Given the description of an element on the screen output the (x, y) to click on. 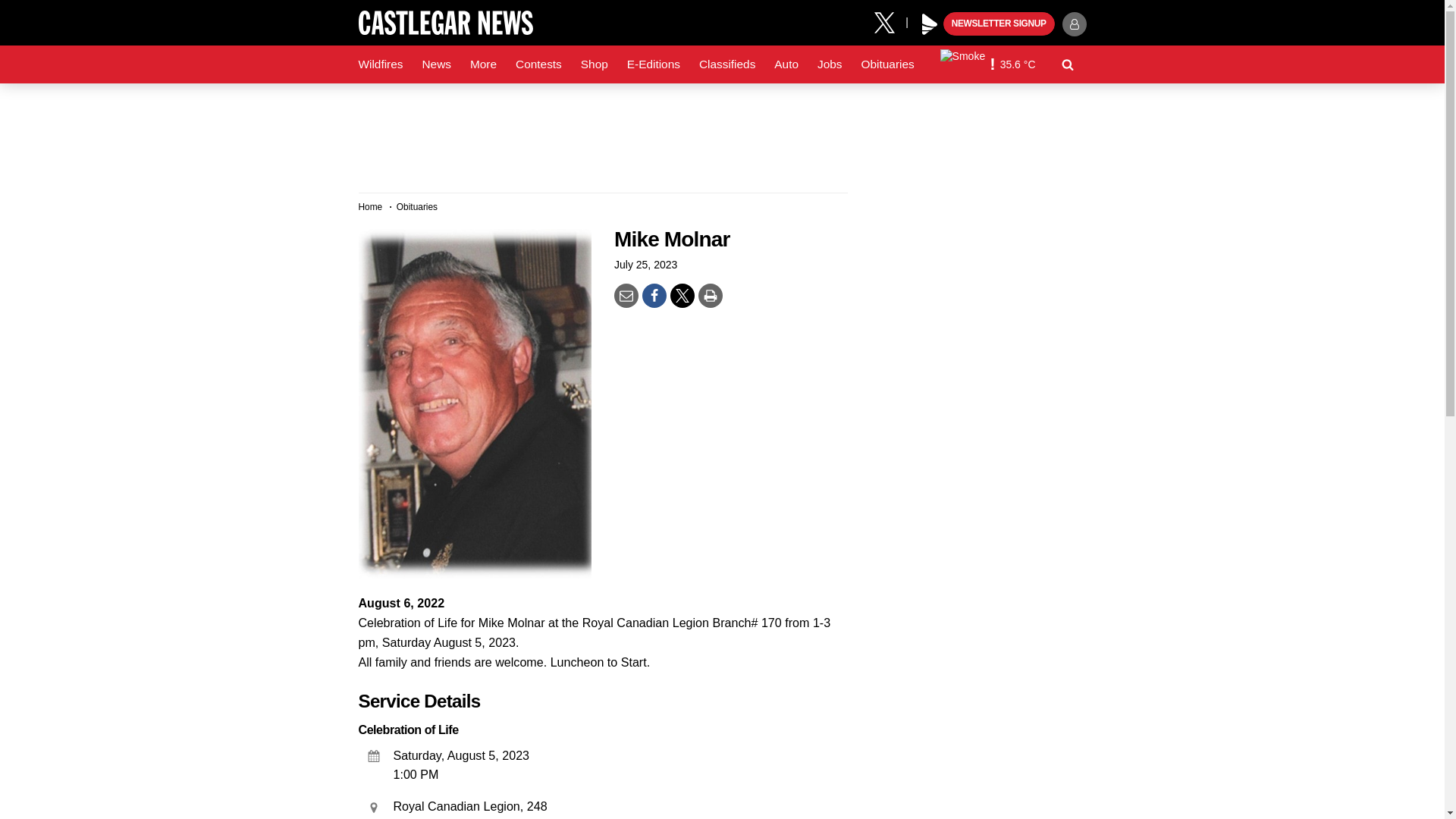
Black Press Media (929, 24)
Play (929, 24)
NEWSLETTER SIGNUP (998, 24)
X (889, 21)
Wildfires (380, 64)
News (435, 64)
